Given the description of an element on the screen output the (x, y) to click on. 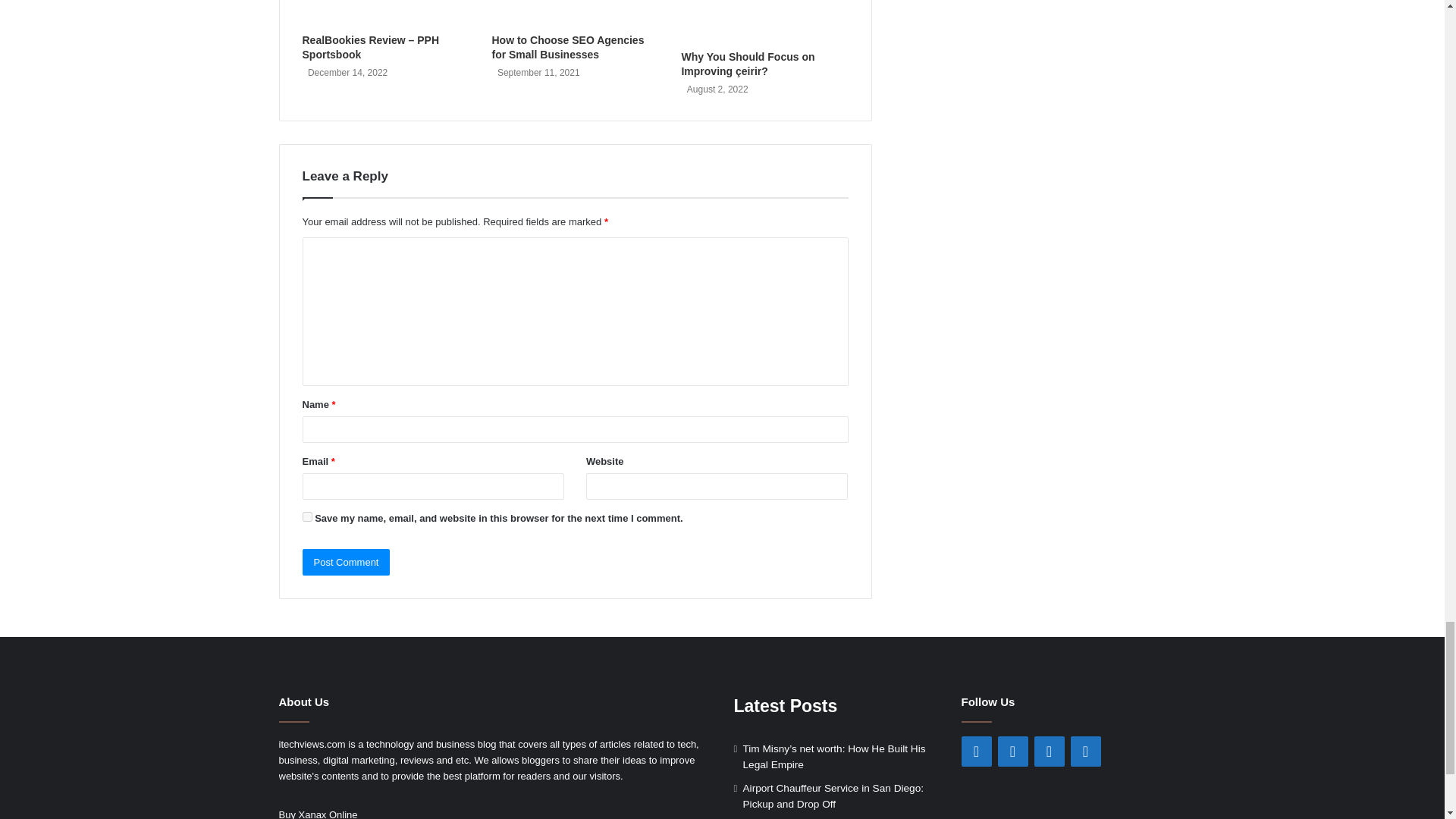
LinkedIn (1048, 751)
Twitter (1012, 751)
Post Comment (345, 561)
yes (306, 516)
Facebook (975, 751)
